Given the description of an element on the screen output the (x, y) to click on. 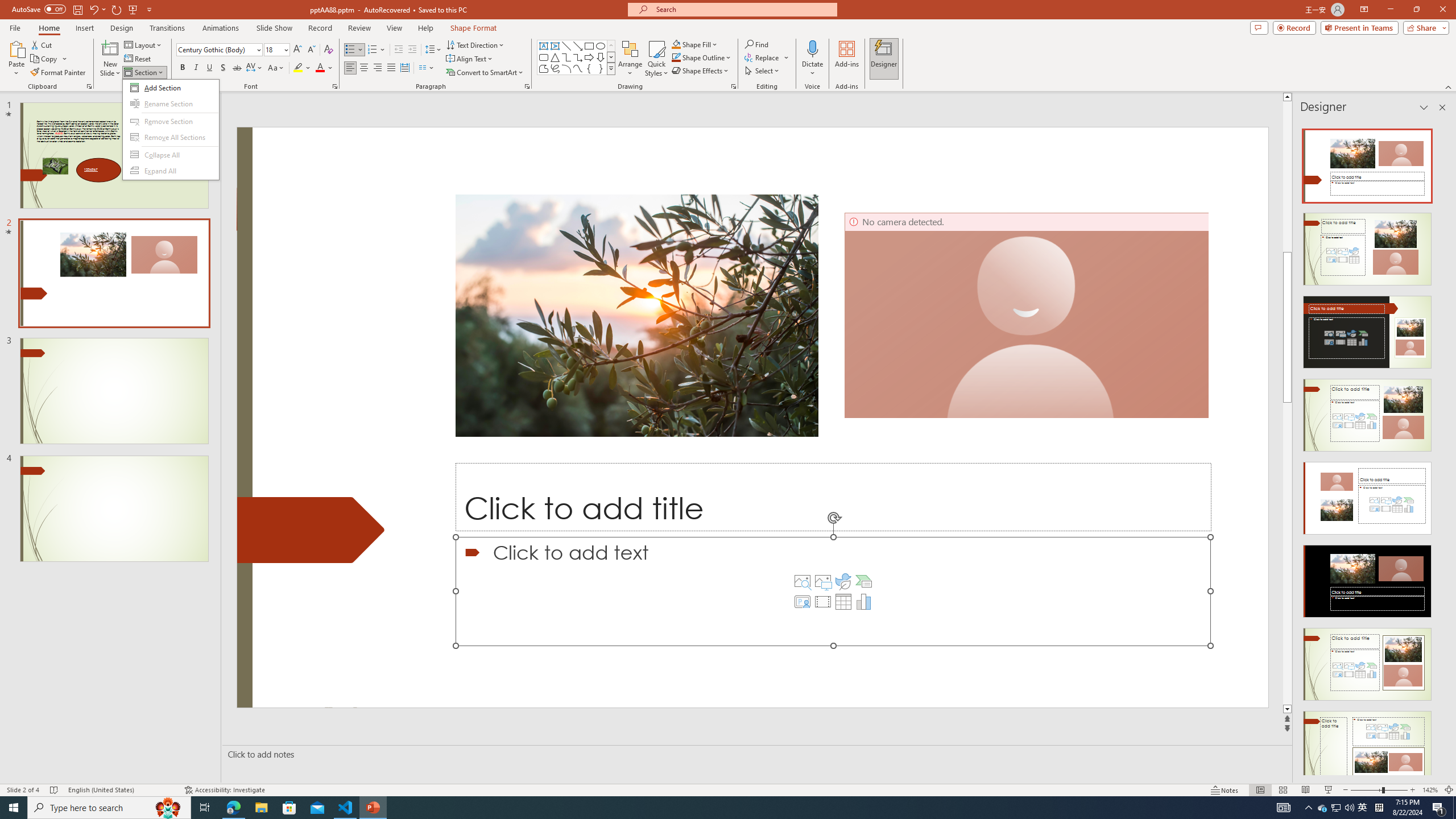
Insert an Icon (843, 581)
